Given the description of an element on the screen output the (x, y) to click on. 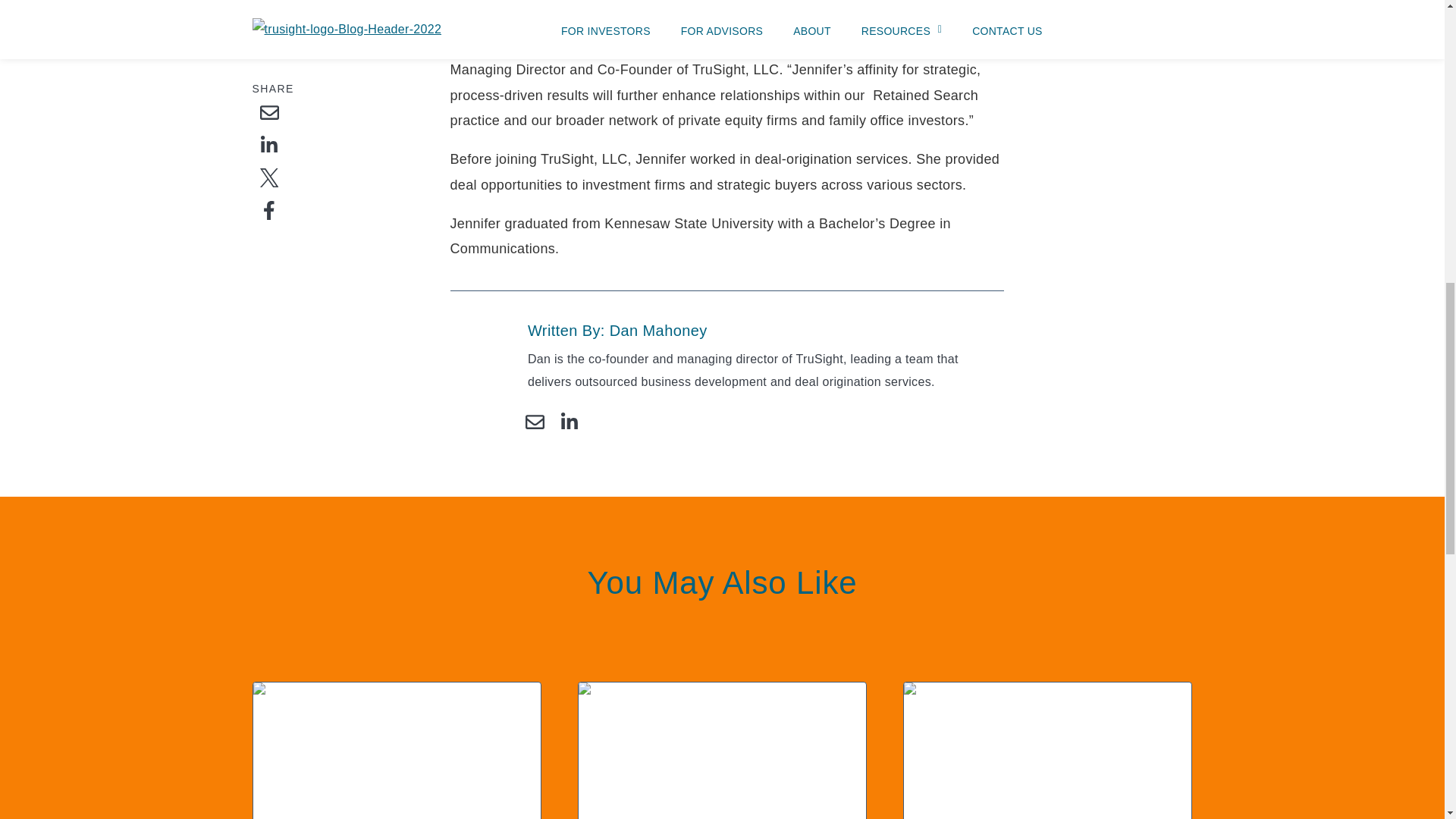
LinkedIn Profile (569, 422)
Email Address (534, 422)
